Given the description of an element on the screen output the (x, y) to click on. 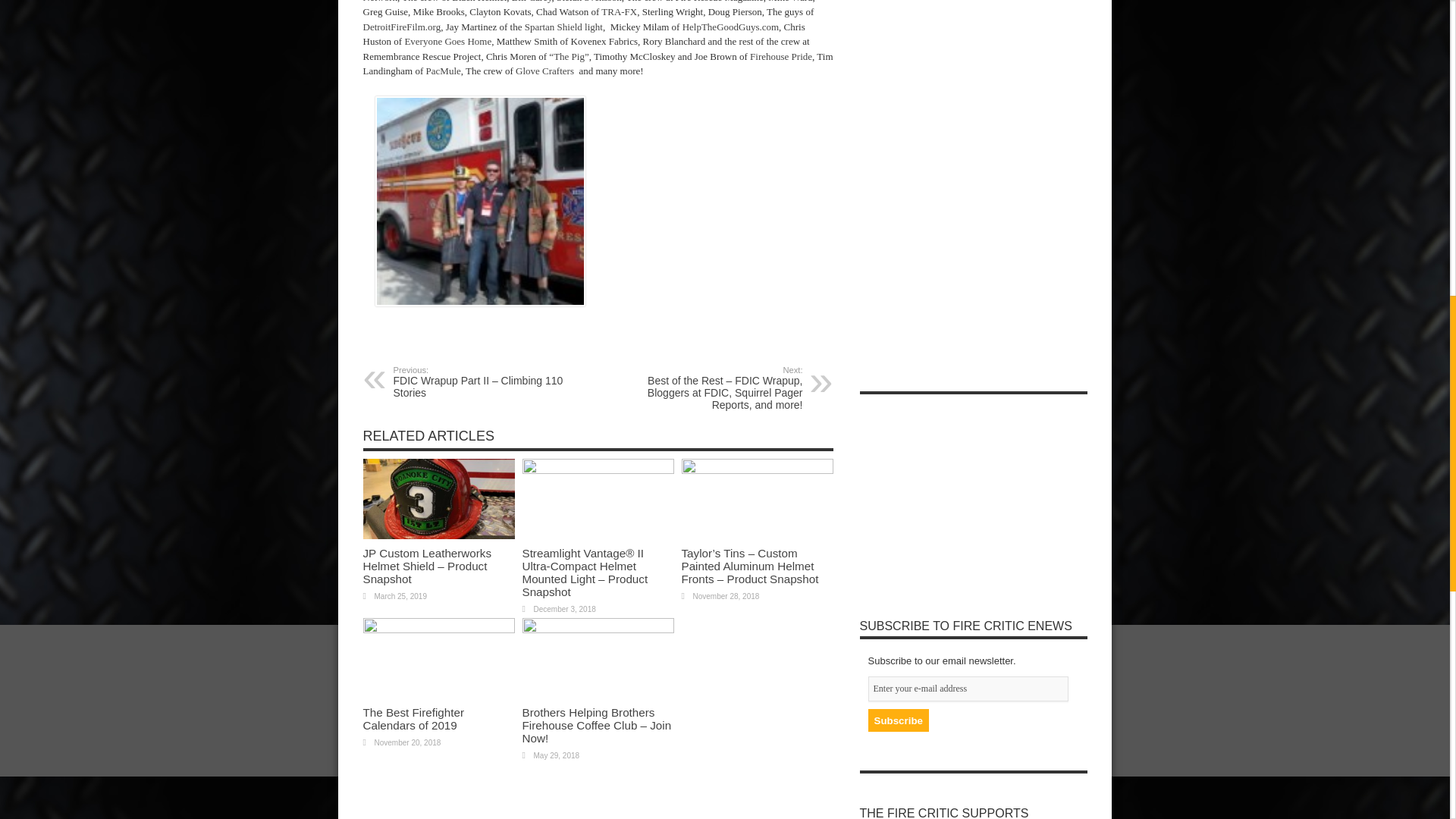
Firehouse Pride (780, 56)
PacMule (441, 70)
Spartan Shield light (563, 26)
DetroitFireFilm.org (401, 26)
Enter your e-mail address (967, 688)
HelpTheGoodGuys.com (730, 26)
Glove Crafters (544, 70)
Subscribe (897, 720)
TRA-FX (619, 11)
Everyone Goes Home (446, 41)
